Given the description of an element on the screen output the (x, y) to click on. 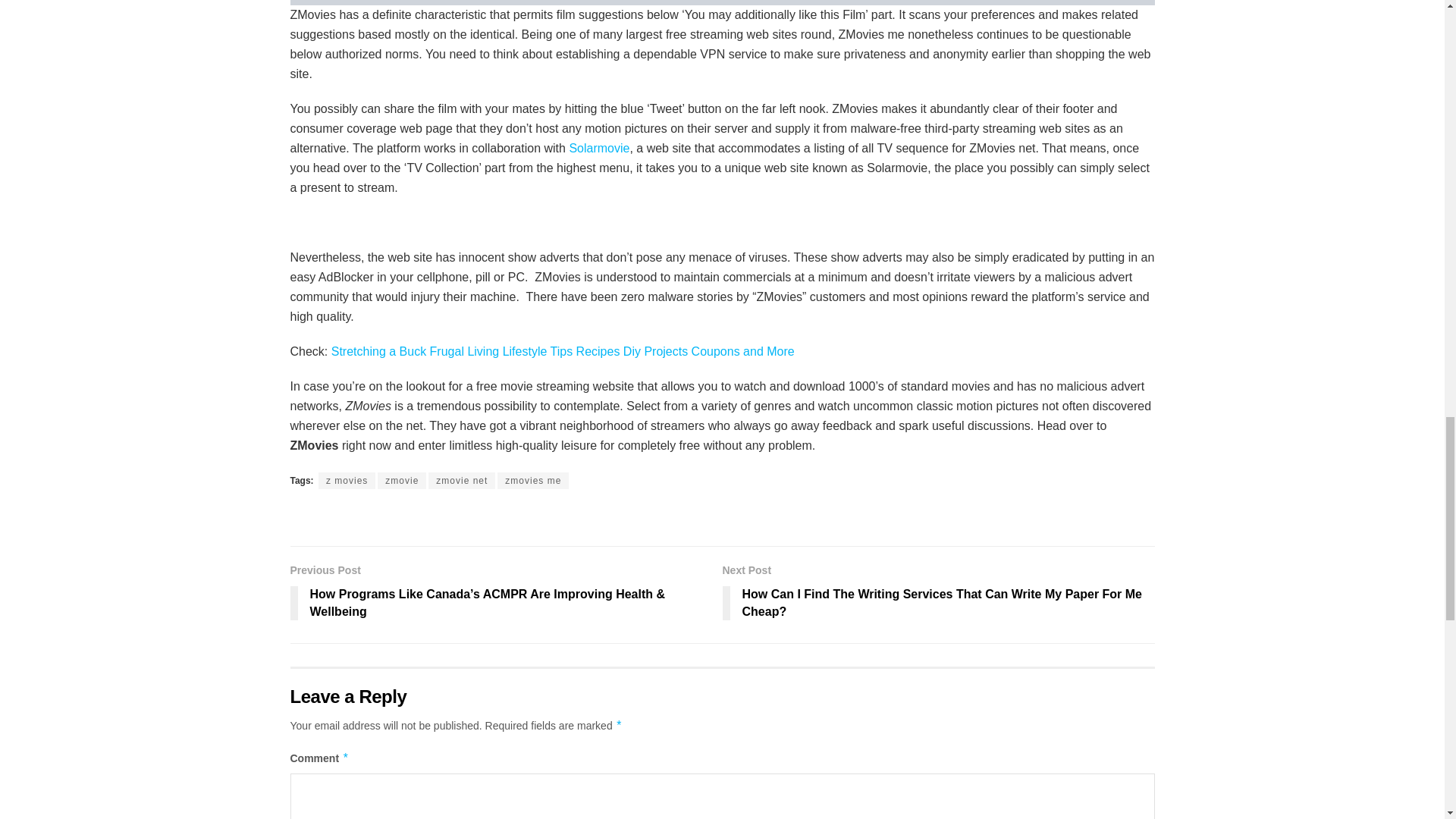
z movies (346, 480)
Solarmovie (598, 147)
zmovie (401, 480)
zmovies me (533, 480)
zmovie net (461, 480)
